Given the description of an element on the screen output the (x, y) to click on. 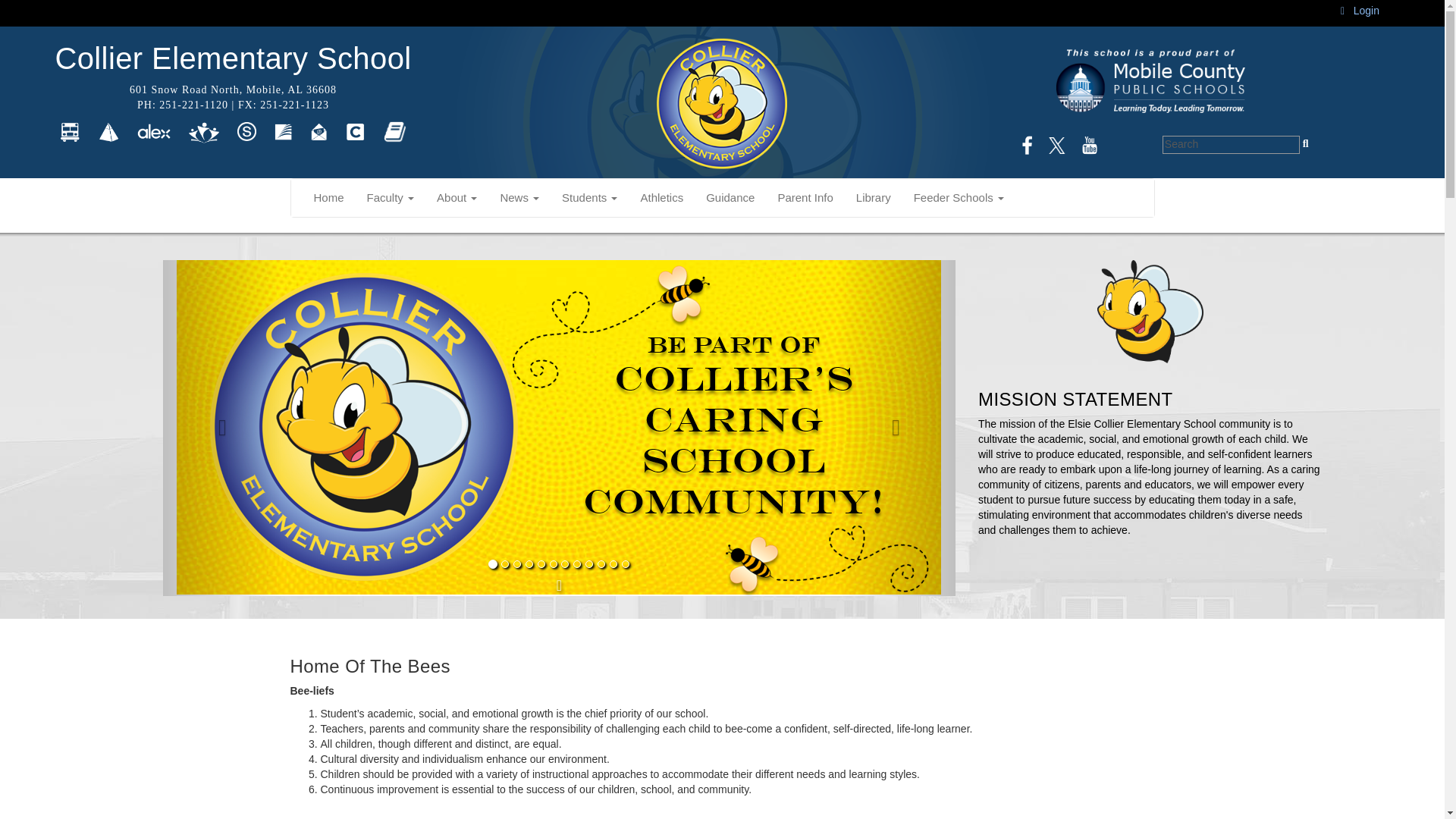
Students (589, 198)
Parent Info (804, 198)
News (518, 198)
Student Grades (246, 131)
Guidance (729, 198)
MCPSS District student handbook (394, 131)
e-Funds for Schools (203, 131)
About (456, 198)
Faculty (390, 198)
Athletics (661, 198)
Student Email (318, 131)
Feeder Schools (958, 198)
Library (873, 198)
  Login (1359, 10)
